Given the description of an element on the screen output the (x, y) to click on. 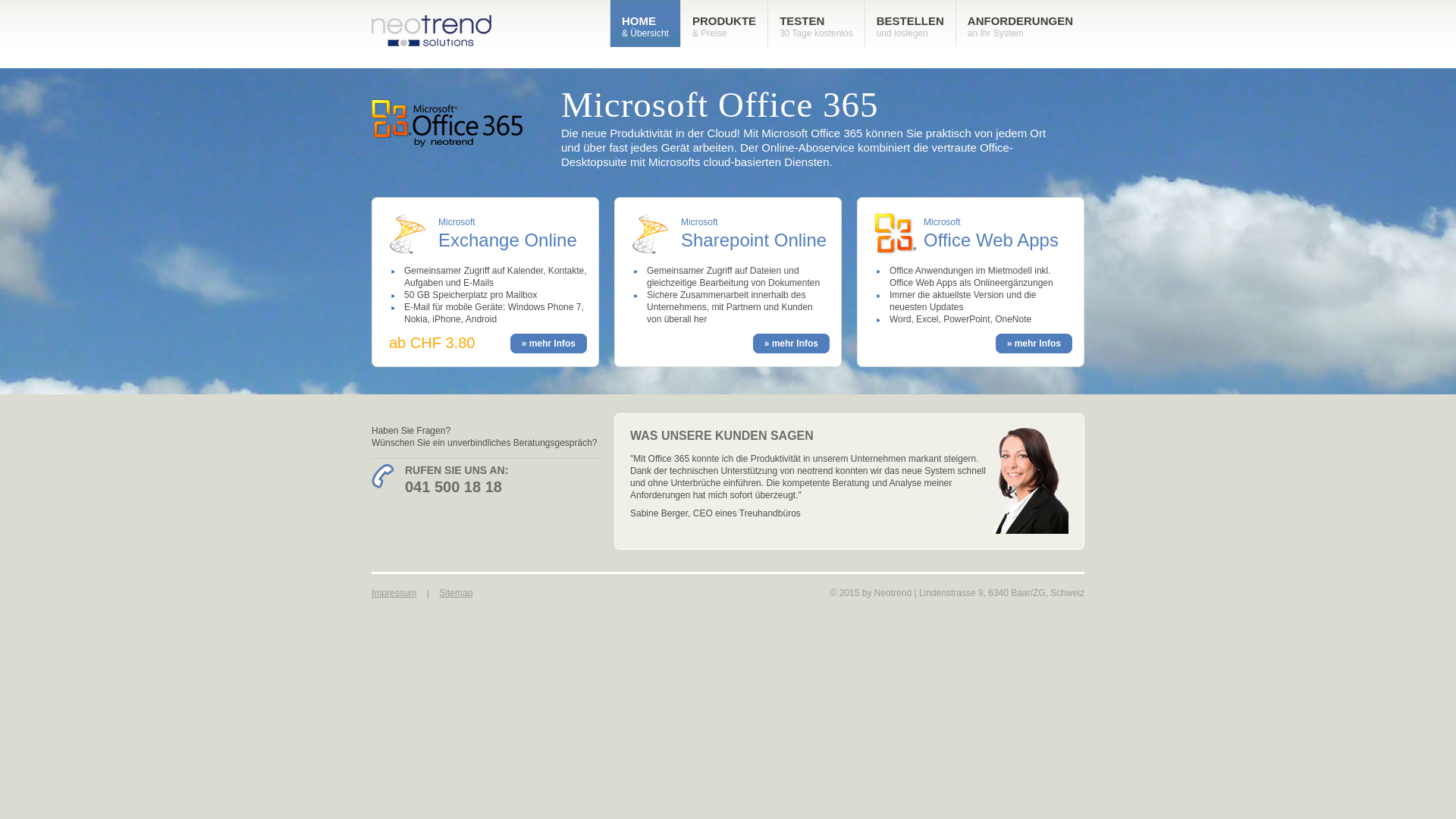
Impressum Element type: text (393, 592)
ANFORDERUNGEN
an Ihr System Element type: text (1020, 23)
TESTEN
30 Tage kostenlos Element type: text (816, 23)
Sitemap Element type: text (455, 592)
PRODUKTE
& Preise Element type: text (723, 23)
Neotrend Element type: text (892, 592)
BESTELLEN
und loslegen Element type: text (910, 23)
